Given the description of an element on the screen output the (x, y) to click on. 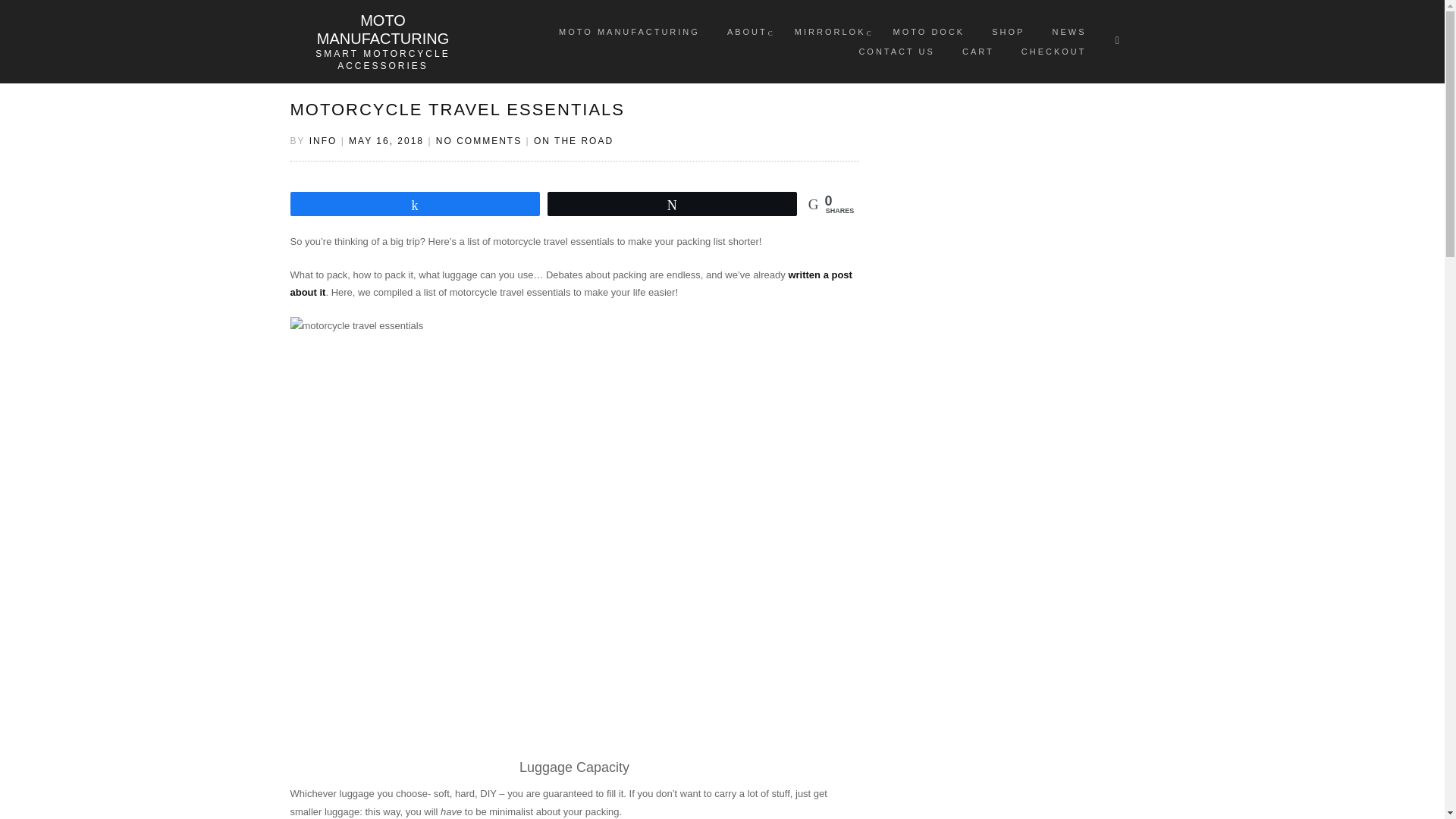
written a post about it (570, 283)
INFO (322, 140)
View all posts in On the Road (573, 140)
ON THE ROAD (573, 140)
MOTORCYCLE TRAVEL ESSENTIALS (456, 108)
MOTO DOCK (929, 31)
MOTO MANUFACTURING (629, 31)
NO COMMENTS (478, 140)
MAY 16, 2018 (386, 140)
MIRRORLOK (830, 31)
